Given the description of an element on the screen output the (x, y) to click on. 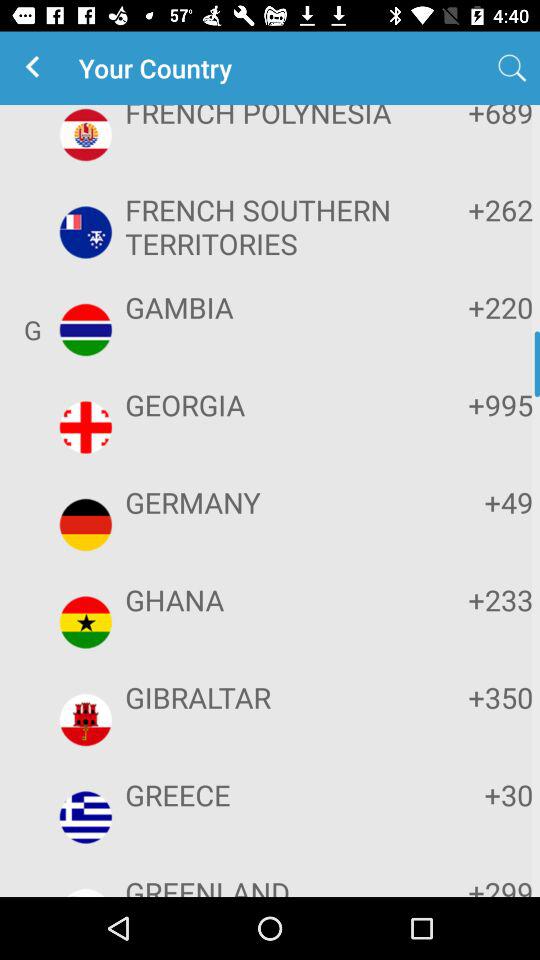
launch the app next to your country (36, 68)
